Given the description of an element on the screen output the (x, y) to click on. 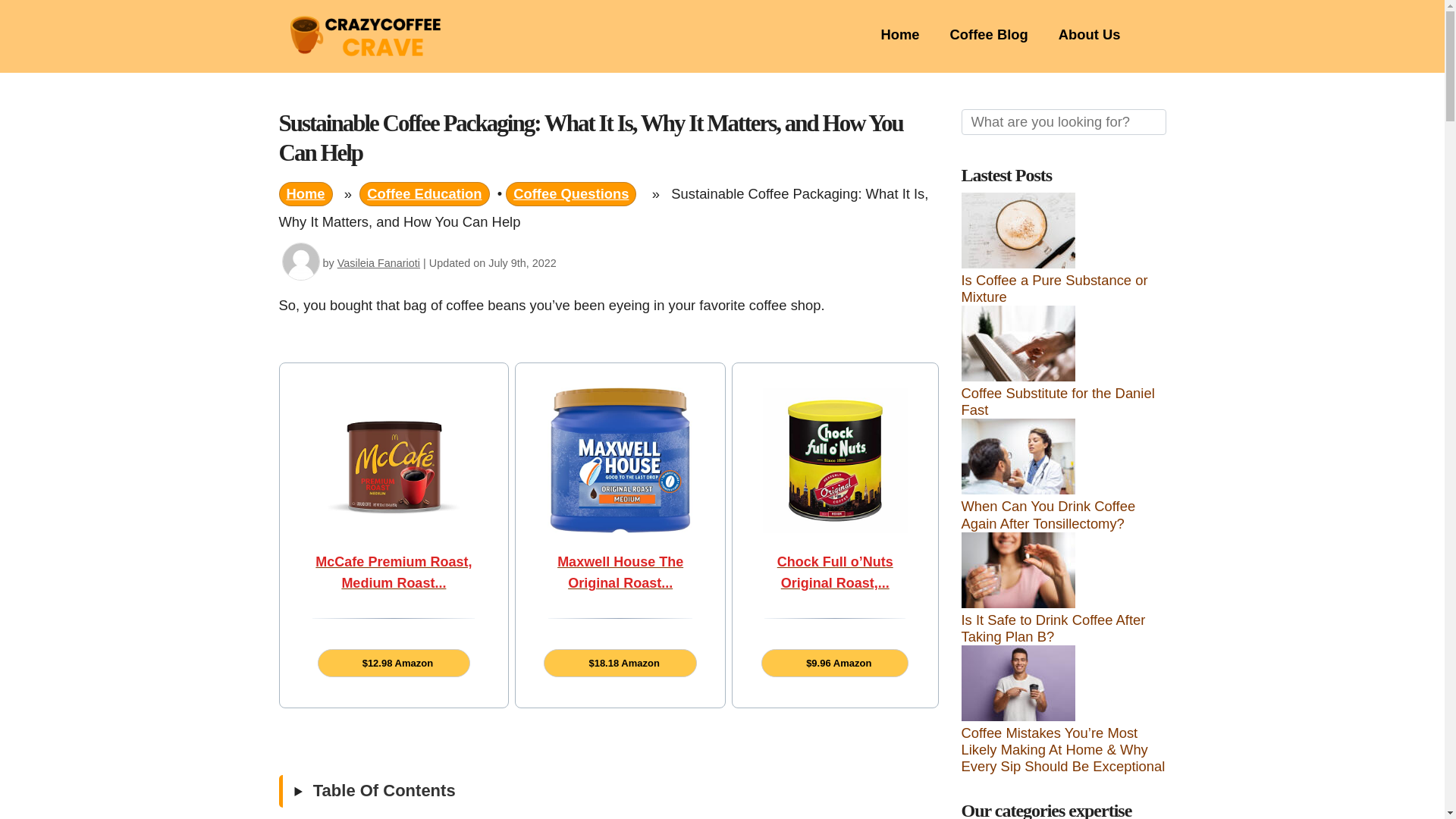
When Can You Drink Coffee Again After Tonsillectomy? (1047, 513)
Coffee Questions (570, 193)
Coffee Education (424, 193)
Home (306, 193)
Home (899, 34)
Is It Safe to Drink Coffee After Taking Plan B? (1052, 627)
Vasileia Fanarioti (378, 263)
Is Coffee a Pure Substance or Mixture (1054, 287)
Coffee Blog (989, 34)
About Us (1089, 34)
